Given the description of an element on the screen output the (x, y) to click on. 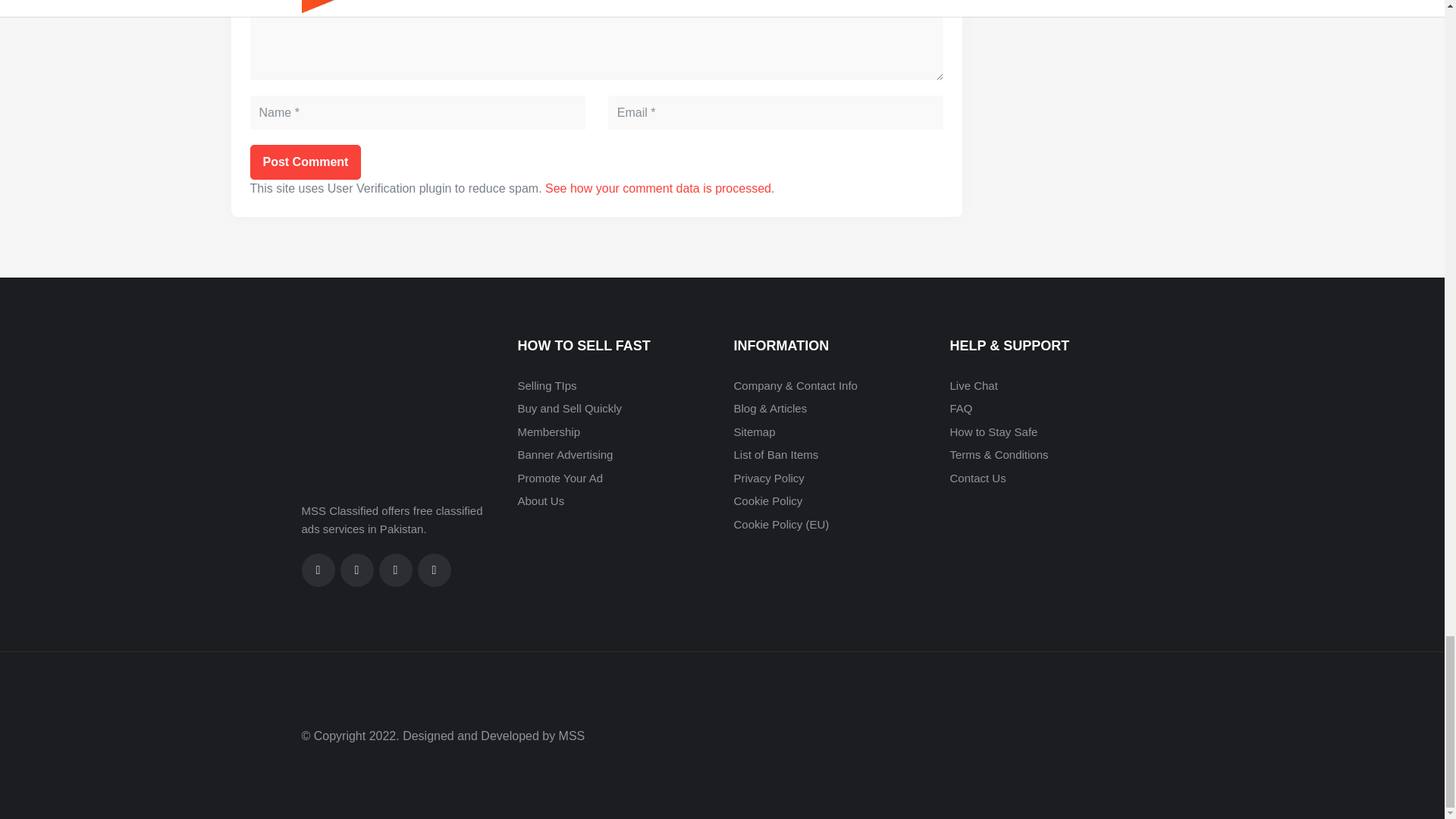
Post Comment (305, 161)
